Given the description of an element on the screen output the (x, y) to click on. 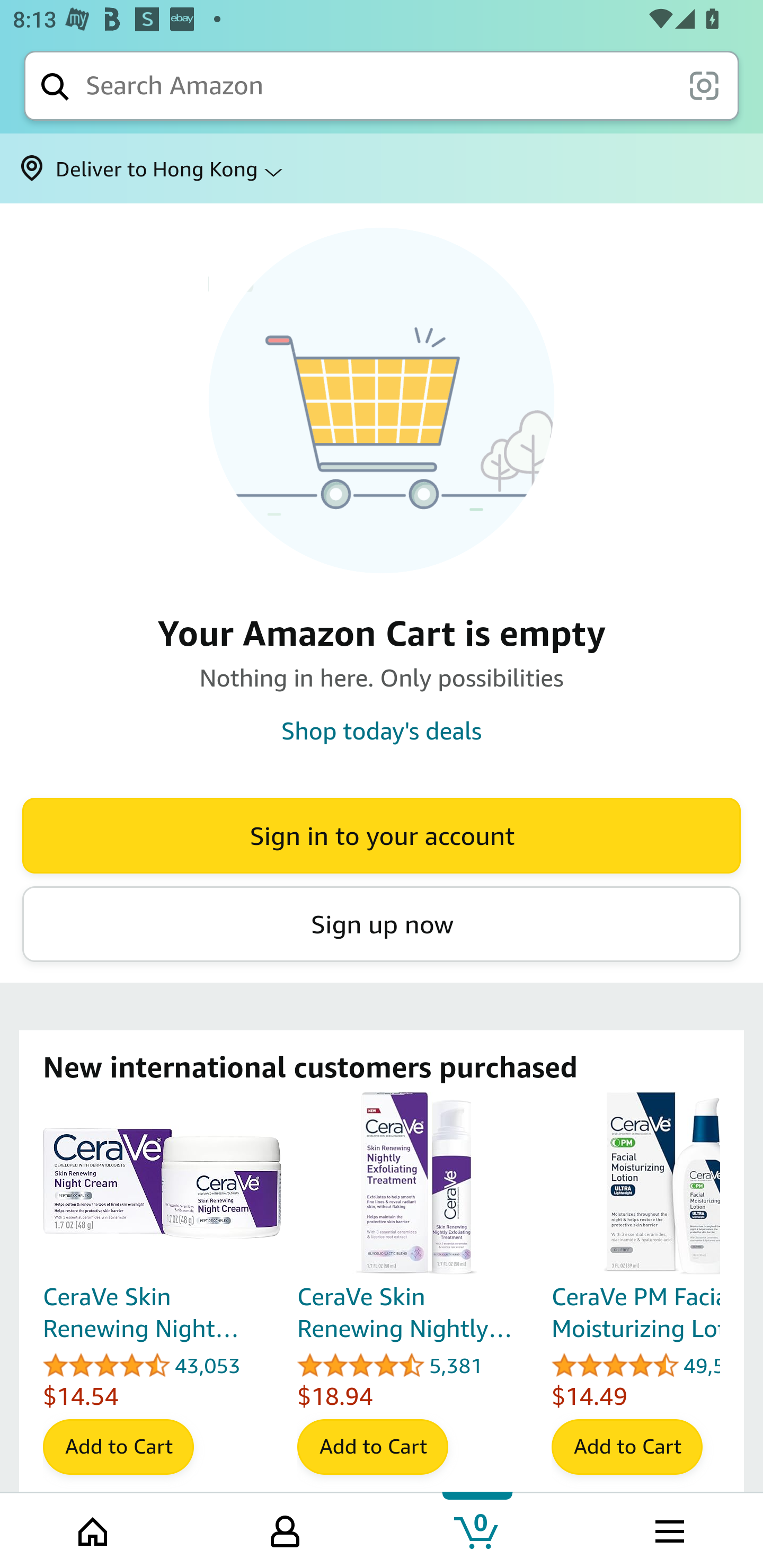
Search Search Search Amazon scan it (381, 85)
scan it (704, 85)
Deliver to Hong Kong ⌵ (381, 168)
Shop today's deals (381, 729)
Sign in to your account (381, 835)
Sign up now (381, 924)
Add to Cart (118, 1447)
Add to Cart (372, 1447)
Add to Cart (627, 1447)
Home Tab 1 of 4 (94, 1529)
Your Amazon.com Tab 2 of 4 (285, 1529)
Cart 0 item Tab 3 of 4 0 (477, 1529)
Browse menu Tab 4 of 4 (668, 1529)
